Given the description of an element on the screen output the (x, y) to click on. 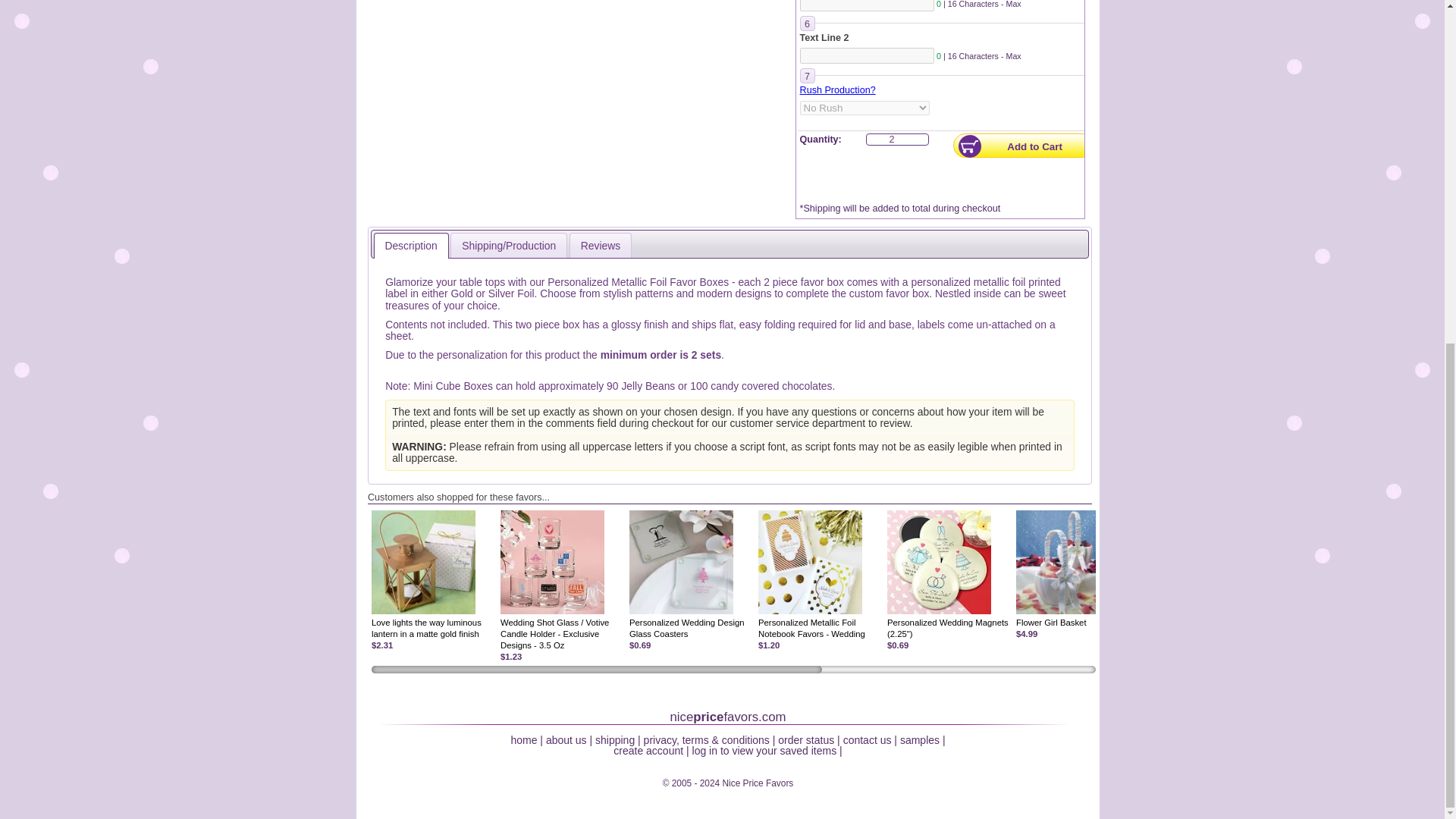
2 (898, 139)
Rush Production (837, 90)
